Given the description of an element on the screen output the (x, y) to click on. 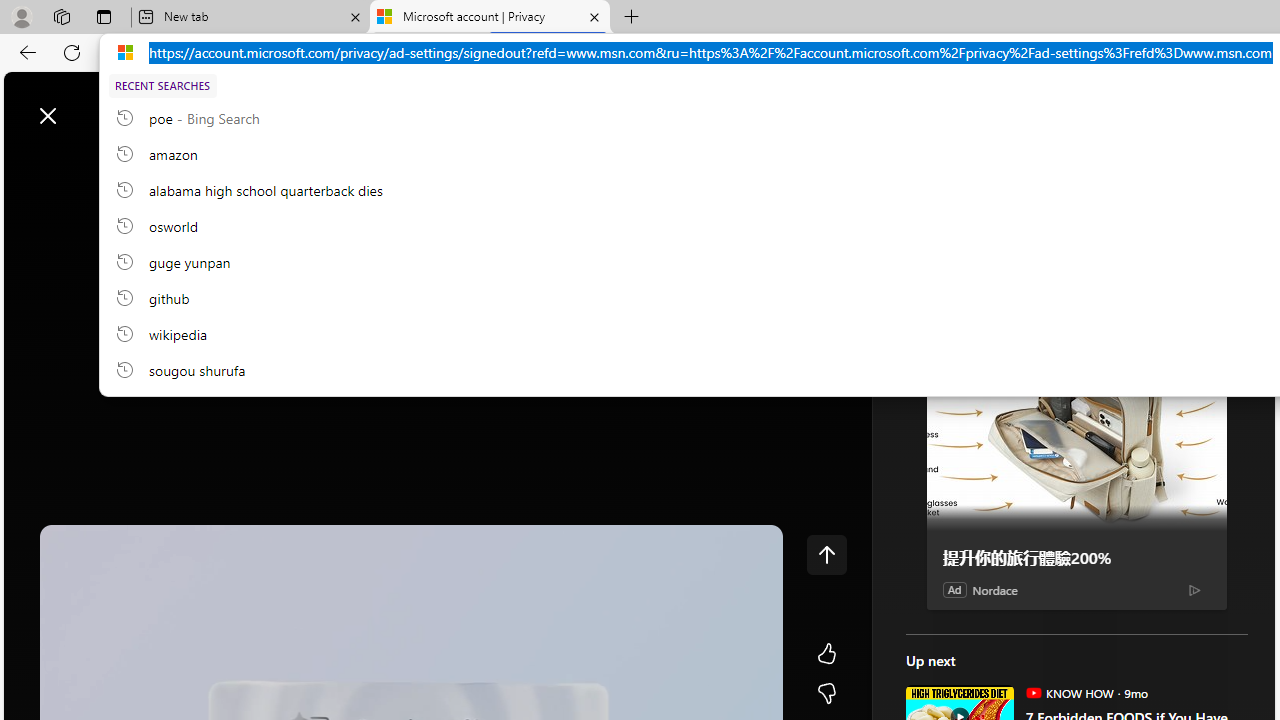
Open navigation menu (29, 162)
The Associated Press (974, 645)
KNOW HOW KNOW HOW (1069, 692)
Skip to content (86, 105)
KNOW HOW (1033, 692)
